Given the description of an element on the screen output the (x, y) to click on. 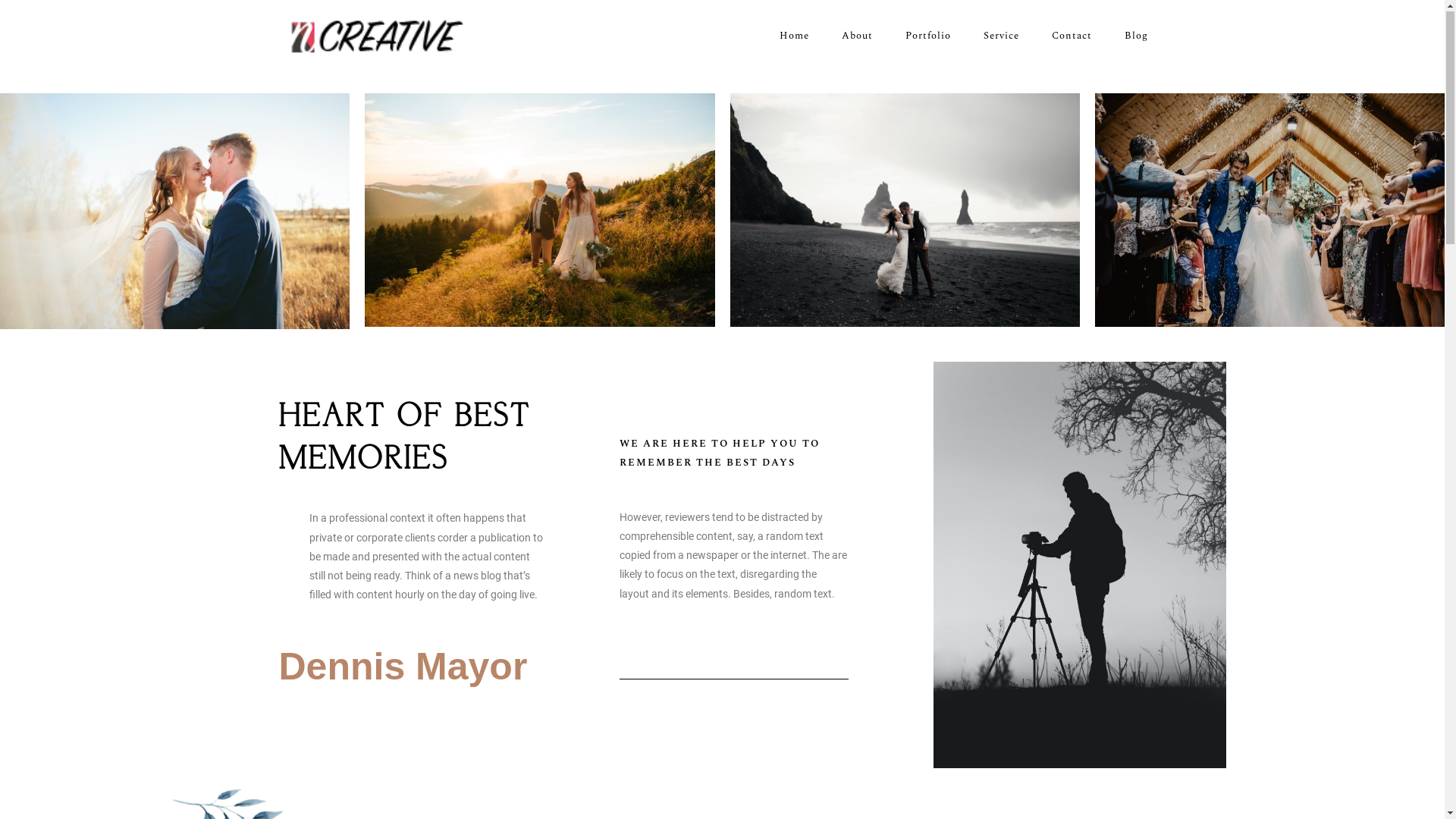
About Element type: text (856, 36)
Contact Element type: text (1071, 36)
Home Element type: text (794, 36)
Portfolio Element type: text (927, 36)
Blog Element type: text (1136, 36)
Service Element type: text (1001, 36)
